Given the description of an element on the screen output the (x, y) to click on. 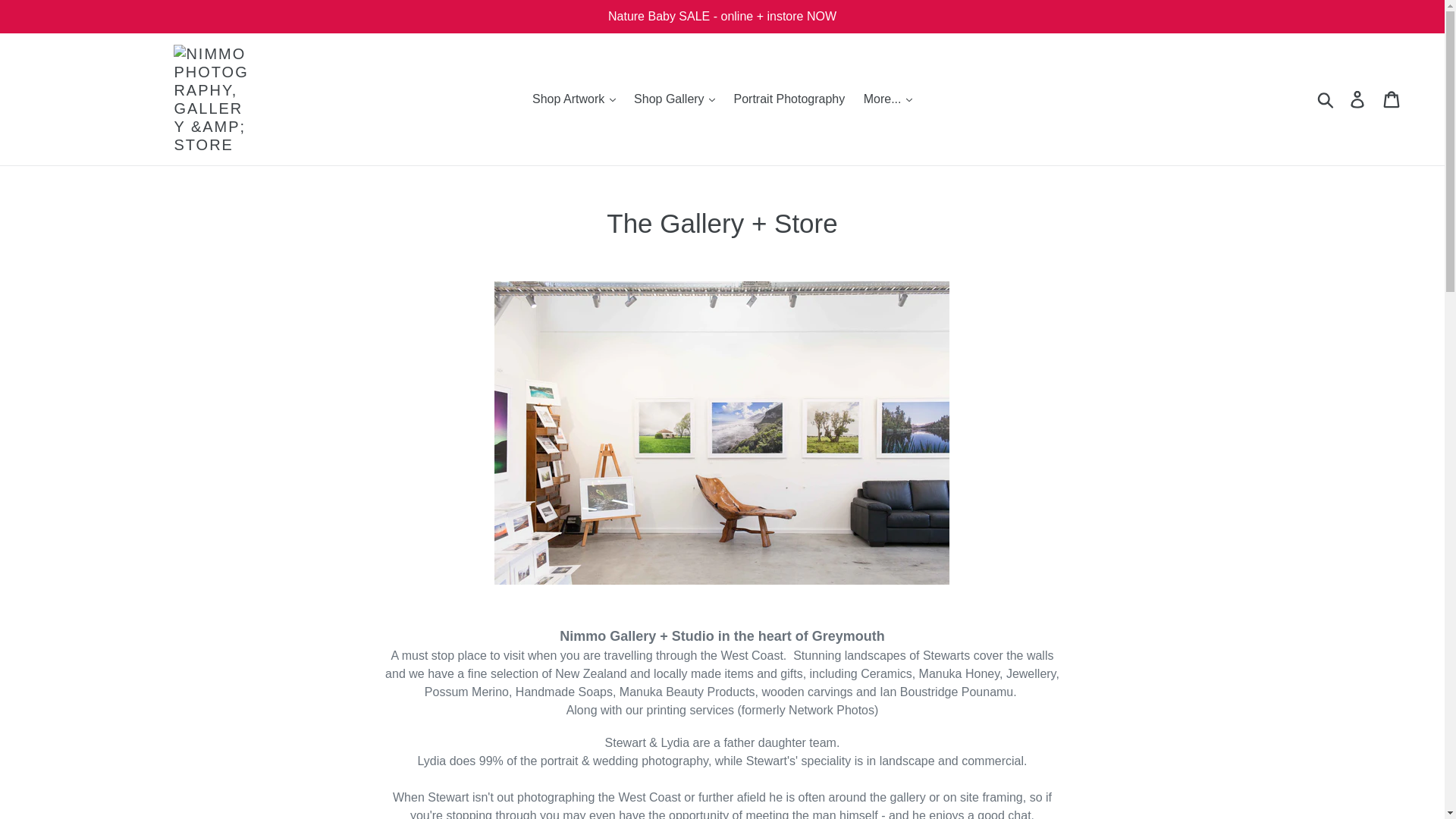
Submit (1326, 99)
Portrait Photography (789, 98)
Cart (1392, 99)
Log in (1357, 99)
